Given the description of an element on the screen output the (x, y) to click on. 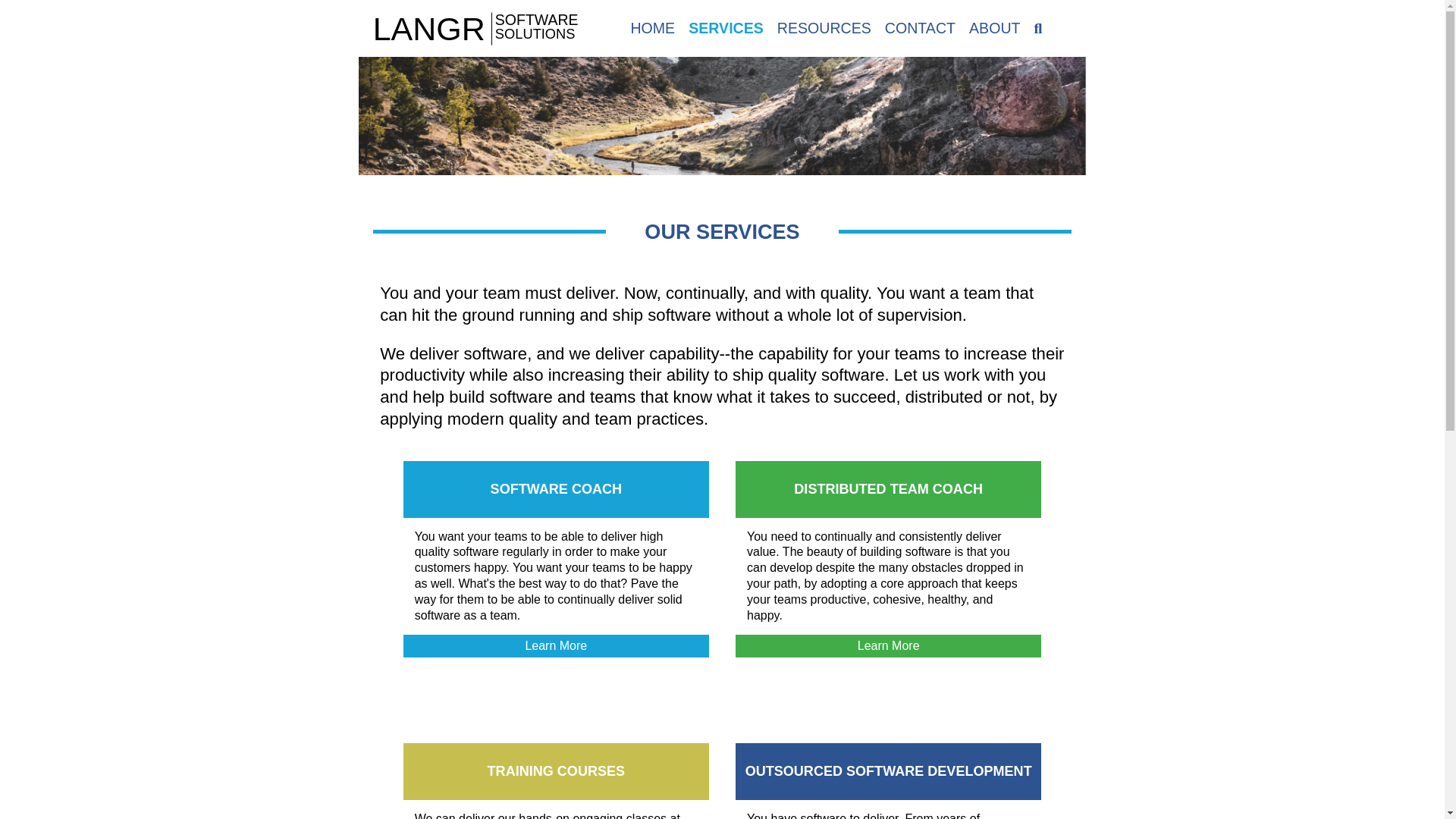
RESOURCES (823, 27)
OUTSOURCED SOFTWARE DEVELOPMENT (888, 770)
TRAINING COURSES (555, 770)
HOME (652, 27)
Learn More (556, 645)
Learn More (888, 645)
SERVICES (725, 27)
ABOUT (994, 27)
CONTACT (920, 27)
SOFTWARE COACH (555, 488)
